Given the description of an element on the screen output the (x, y) to click on. 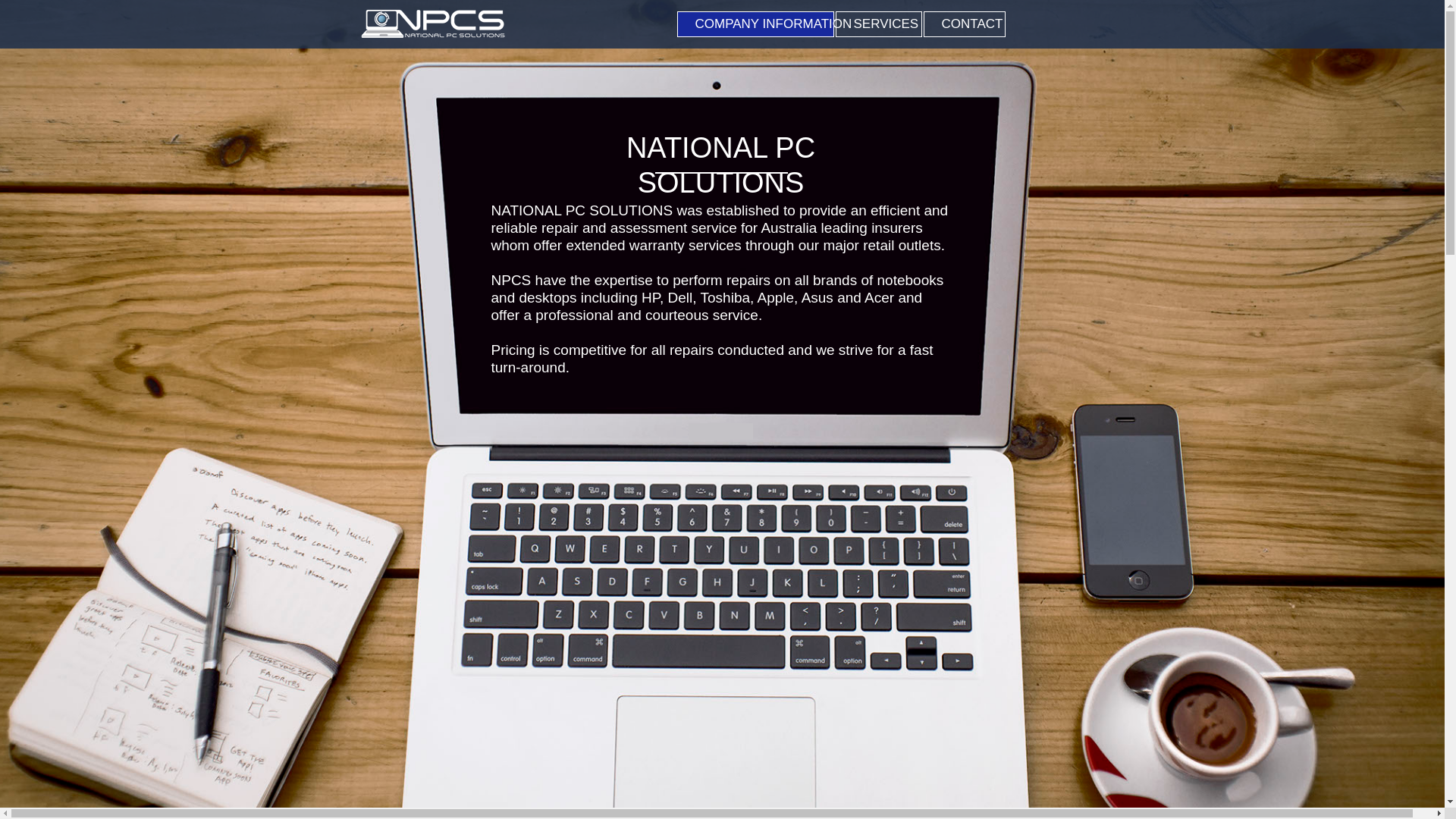
CONTACT Element type: text (964, 24)
SERVICES Element type: text (878, 24)
COMPANY INFORMATION Element type: text (754, 24)
